Given the description of an element on the screen output the (x, y) to click on. 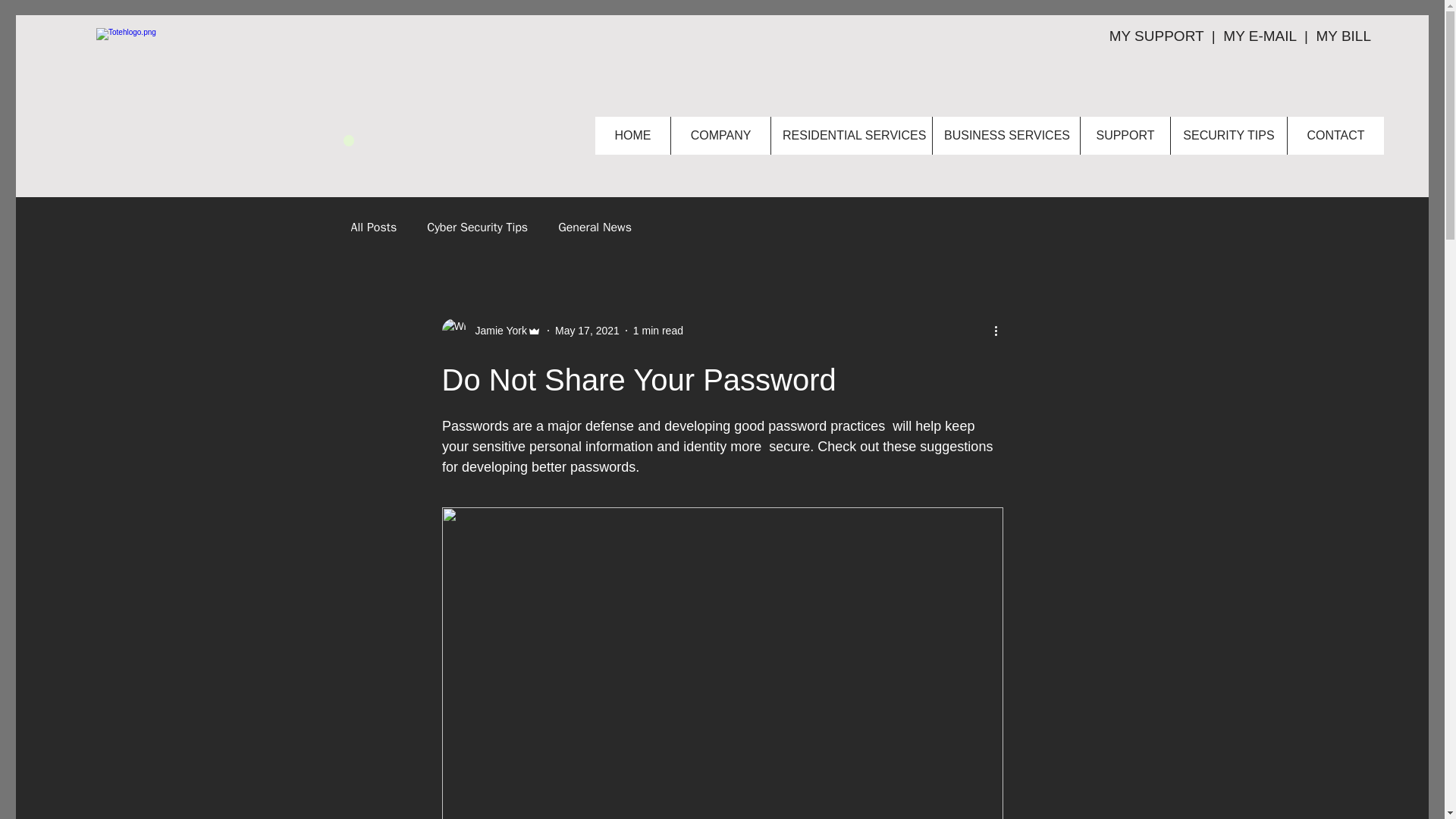
General News (594, 227)
Jamie York (495, 330)
SECURITY TIPS (1228, 135)
SUPPORT (1125, 135)
MY E-MAIL (1259, 35)
RESIDENTIAL SERVICES (850, 135)
Cyber Security Tips (476, 227)
COMPANY (719, 135)
BUSINESS SERVICES (1005, 135)
May 17, 2021 (587, 330)
CONTACT (1335, 135)
MY SUPPORT  (1158, 35)
HOME (632, 135)
1 min read (657, 330)
All Posts (373, 227)
